Given the description of an element on the screen output the (x, y) to click on. 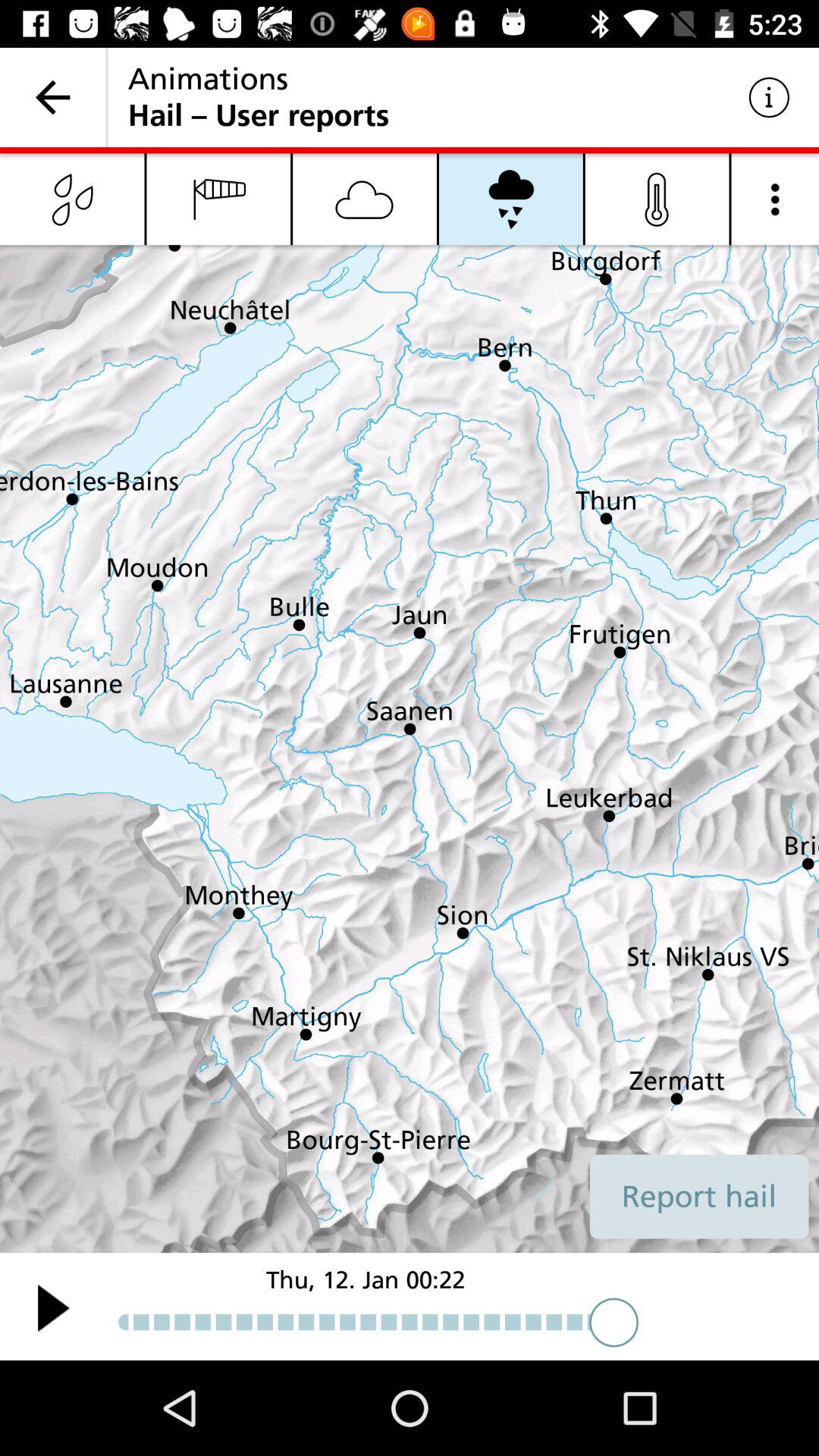
toggles play option (53, 1307)
